Given the description of an element on the screen output the (x, y) to click on. 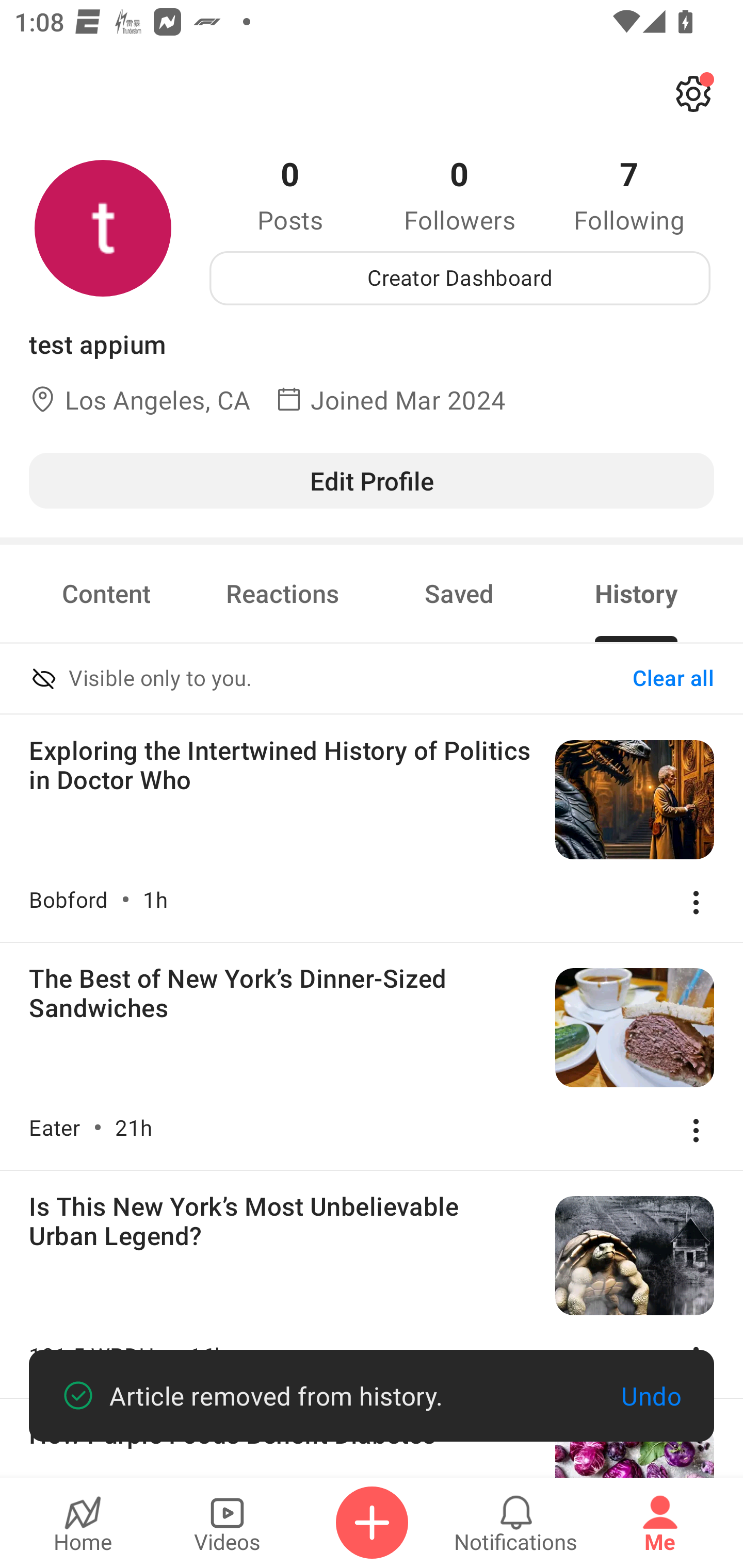
0 Followers (459, 194)
7 Following (629, 194)
Creator Dashboard (459, 277)
Edit Profile (371, 480)
Content (105, 593)
Reactions (282, 593)
Saved (459, 593)
Visible only to you. Clear all (371, 679)
Clear all (673, 678)
Undo (651, 1395)
Home (83, 1522)
Videos (227, 1522)
Notifications (516, 1522)
